Given the description of an element on the screen output the (x, y) to click on. 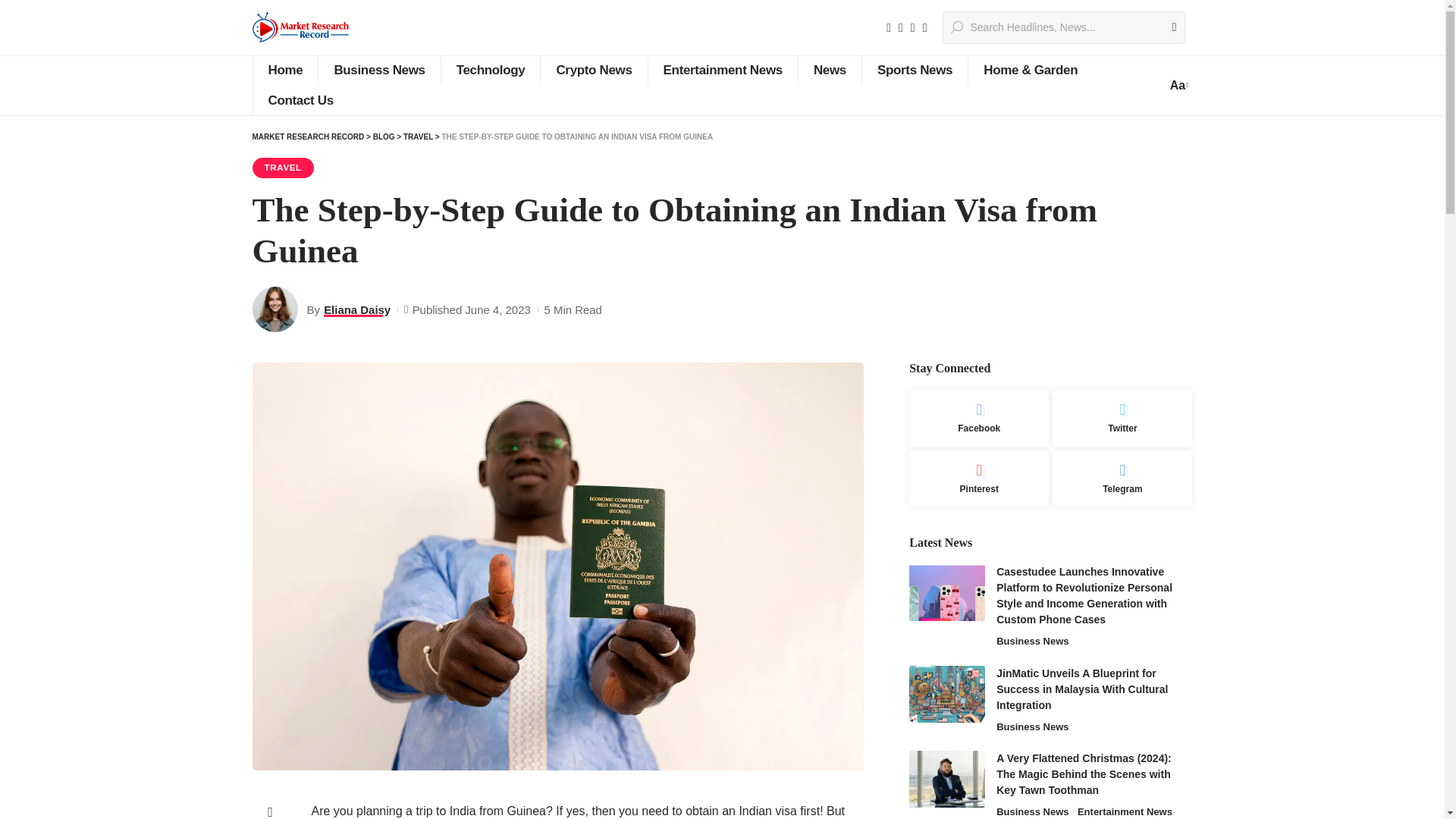
Business News (378, 70)
Go to Blog. (383, 136)
Sports News (914, 70)
Contact Us (299, 100)
Home (284, 70)
Entertainment News (722, 70)
News (829, 70)
Crypto News (593, 70)
Aa (1177, 85)
Go to Market Research Record. (307, 136)
